Given the description of an element on the screen output the (x, y) to click on. 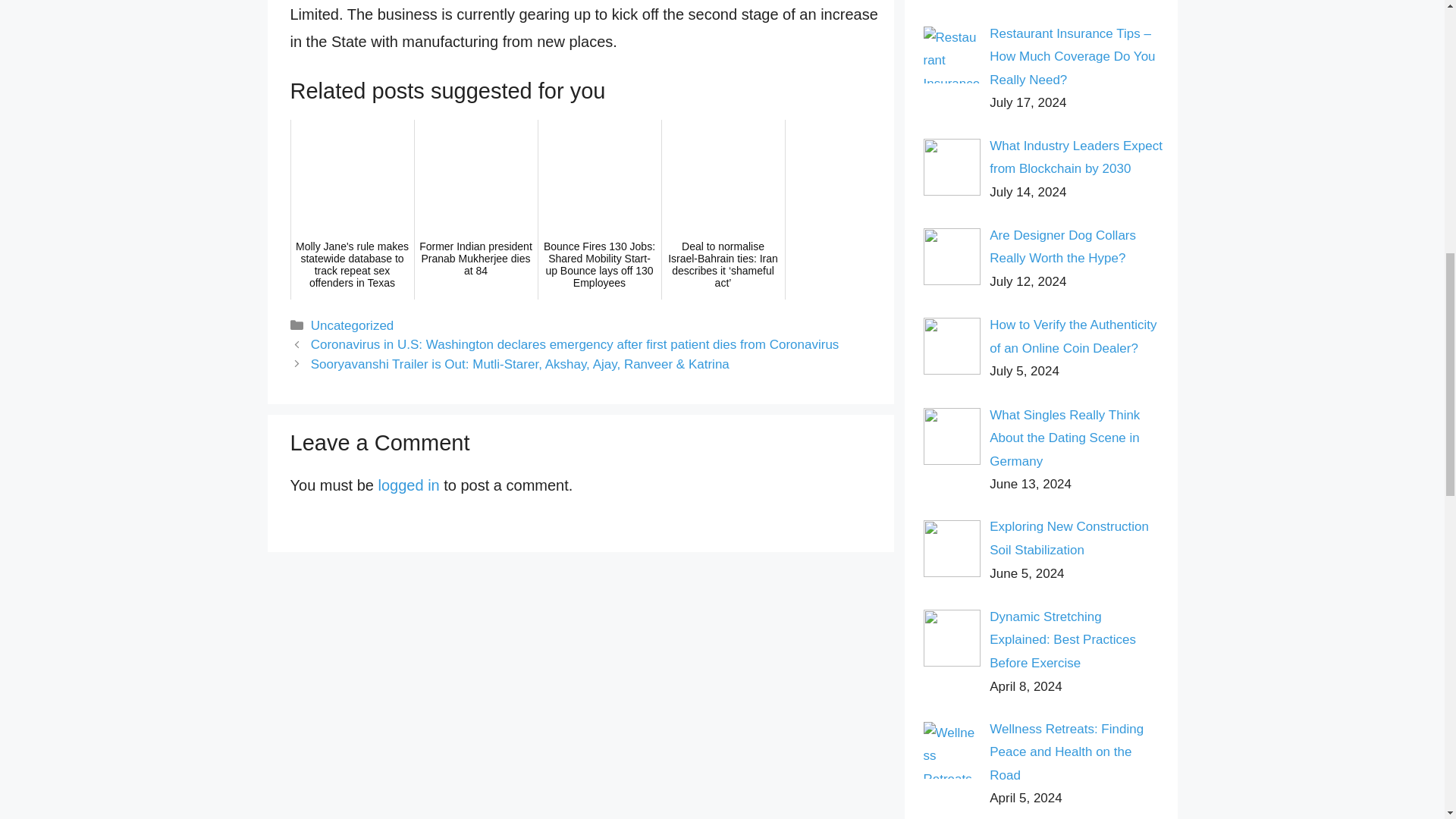
Uncategorized (352, 325)
Wellness Retreats: Finding Peace and Health on the Road (1066, 751)
What Industry Leaders Expect from Blockchain by 2030 (1075, 157)
Are Designer Dog Collars Really Worth the Hype? (1062, 247)
logged in (408, 484)
Scroll back to top (1406, 720)
Dynamic Stretching Explained: Best Practices Before Exercise (1062, 639)
How to Verify the Authenticity of an Online Coin Dealer? (1073, 336)
Exploring New Construction Soil Stabilization (1069, 538)
What Singles Really Think About the Dating Scene in Germany (1065, 437)
